Given the description of an element on the screen output the (x, y) to click on. 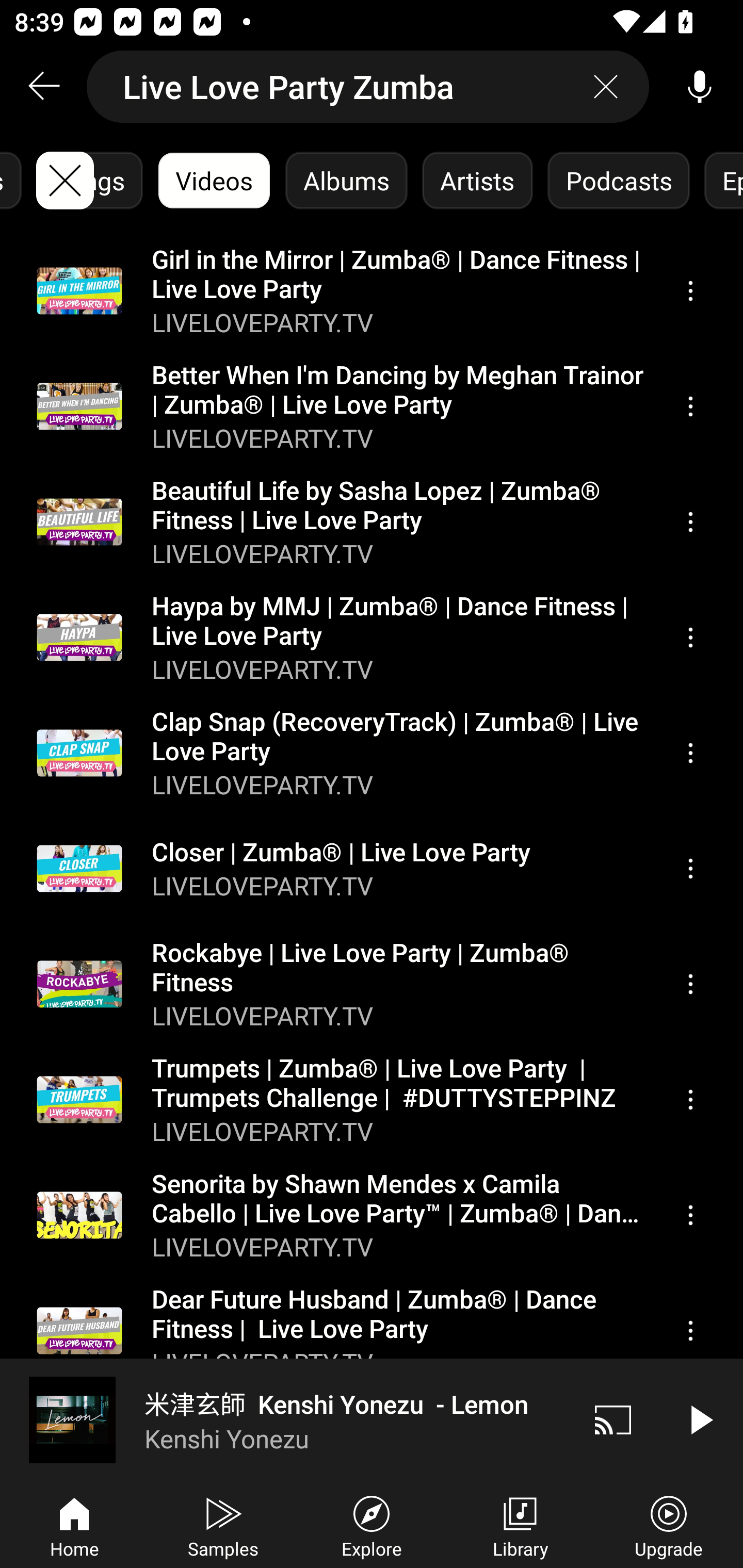
Search back (43, 86)
Live Love Party Zumba (367, 86)
Clear search (605, 86)
Voice search (699, 86)
Clear filters (64, 181)
Podcasts (618, 181)
Menu (690, 290)
Menu (690, 406)
Menu (690, 522)
Menu (690, 638)
Menu (690, 752)
Menu (690, 868)
Menu (690, 984)
Menu (690, 1099)
Menu (690, 1215)
Menu (690, 1331)
米津玄師  Kenshi Yonezu  - Lemon Kenshi Yonezu (284, 1419)
Cast. Disconnected (612, 1419)
Play video (699, 1419)
Home (74, 1524)
Samples (222, 1524)
Explore (371, 1524)
Library (519, 1524)
Upgrade (668, 1524)
